Given the description of an element on the screen output the (x, y) to click on. 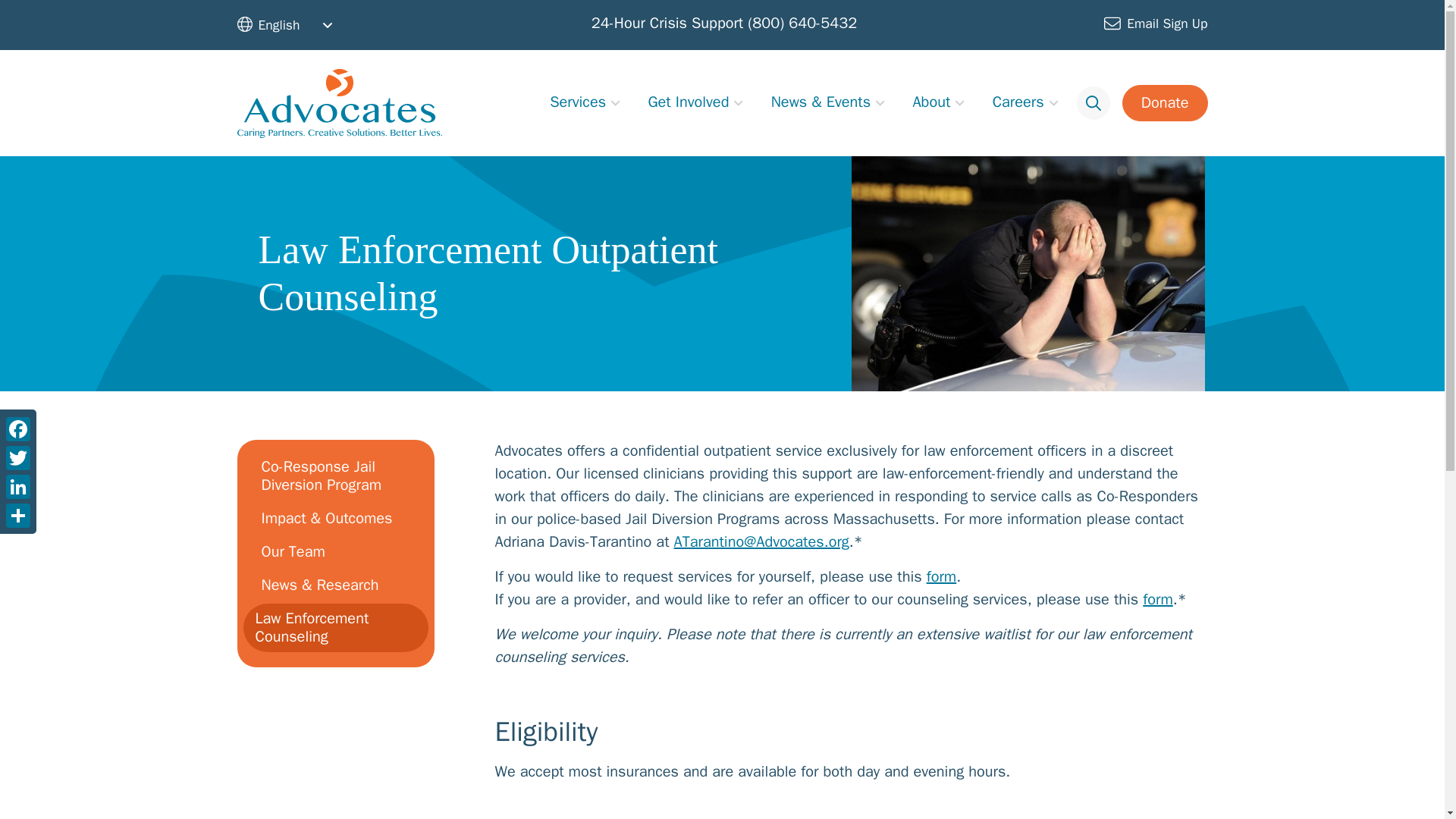
Email Sign Up (1155, 23)
Support Advocates (1165, 103)
Services (577, 102)
